Given the description of an element on the screen output the (x, y) to click on. 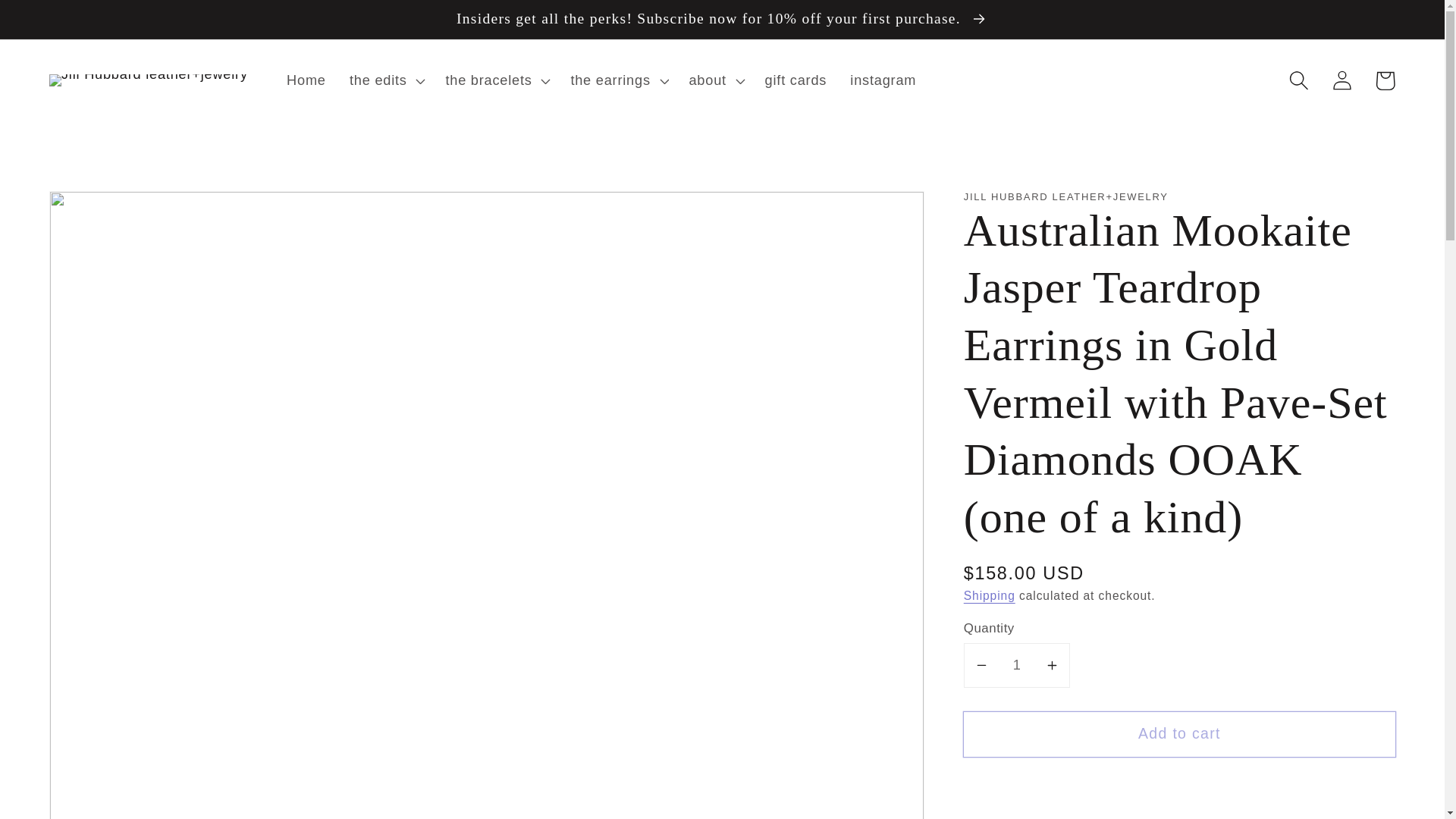
Skip to content (58, 22)
Home (306, 79)
1 (1016, 665)
